Given the description of an element on the screen output the (x, y) to click on. 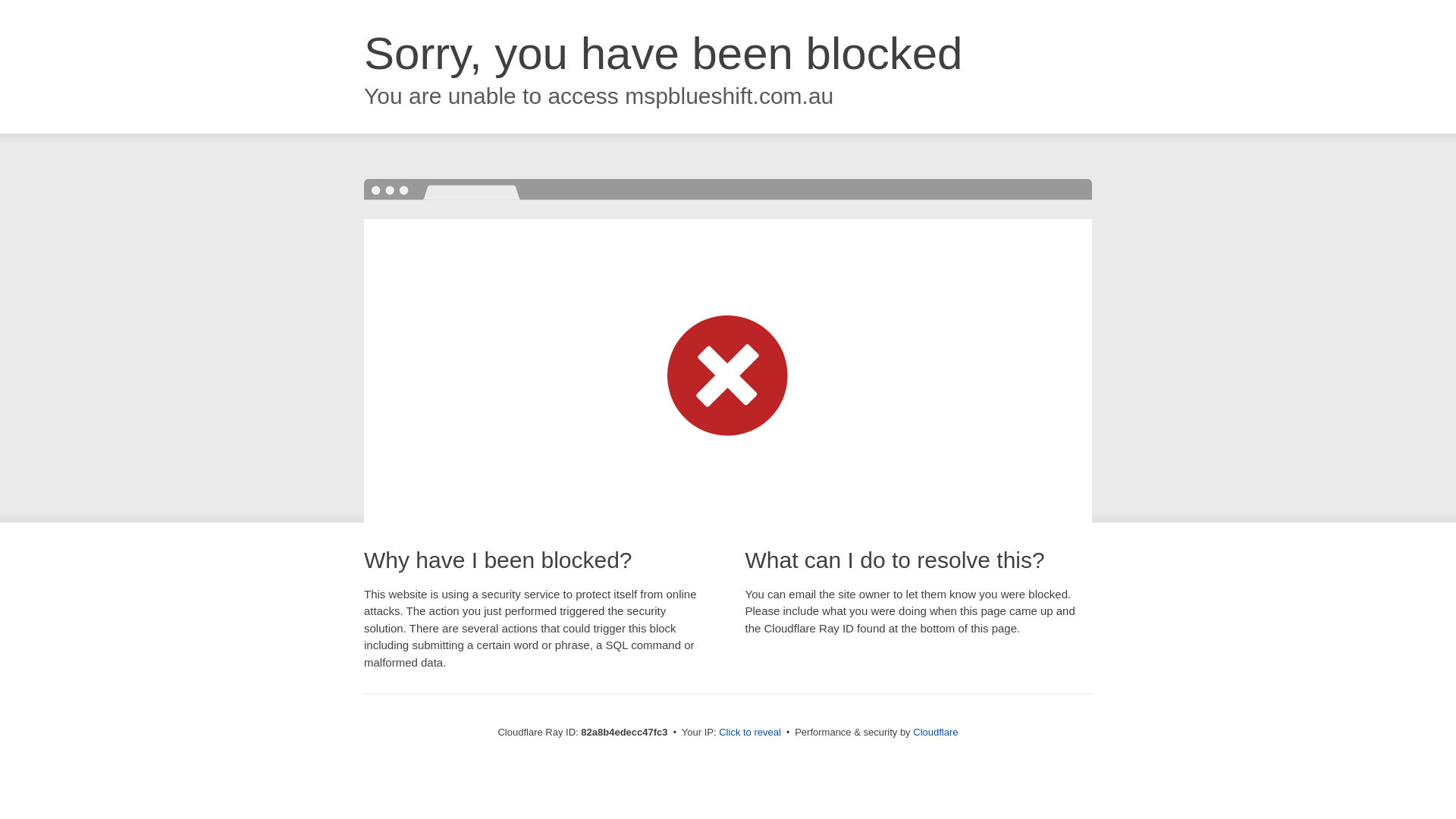
Cloudflare Element type: text (935, 731)
Click to reveal Element type: text (749, 732)
